Given the description of an element on the screen output the (x, y) to click on. 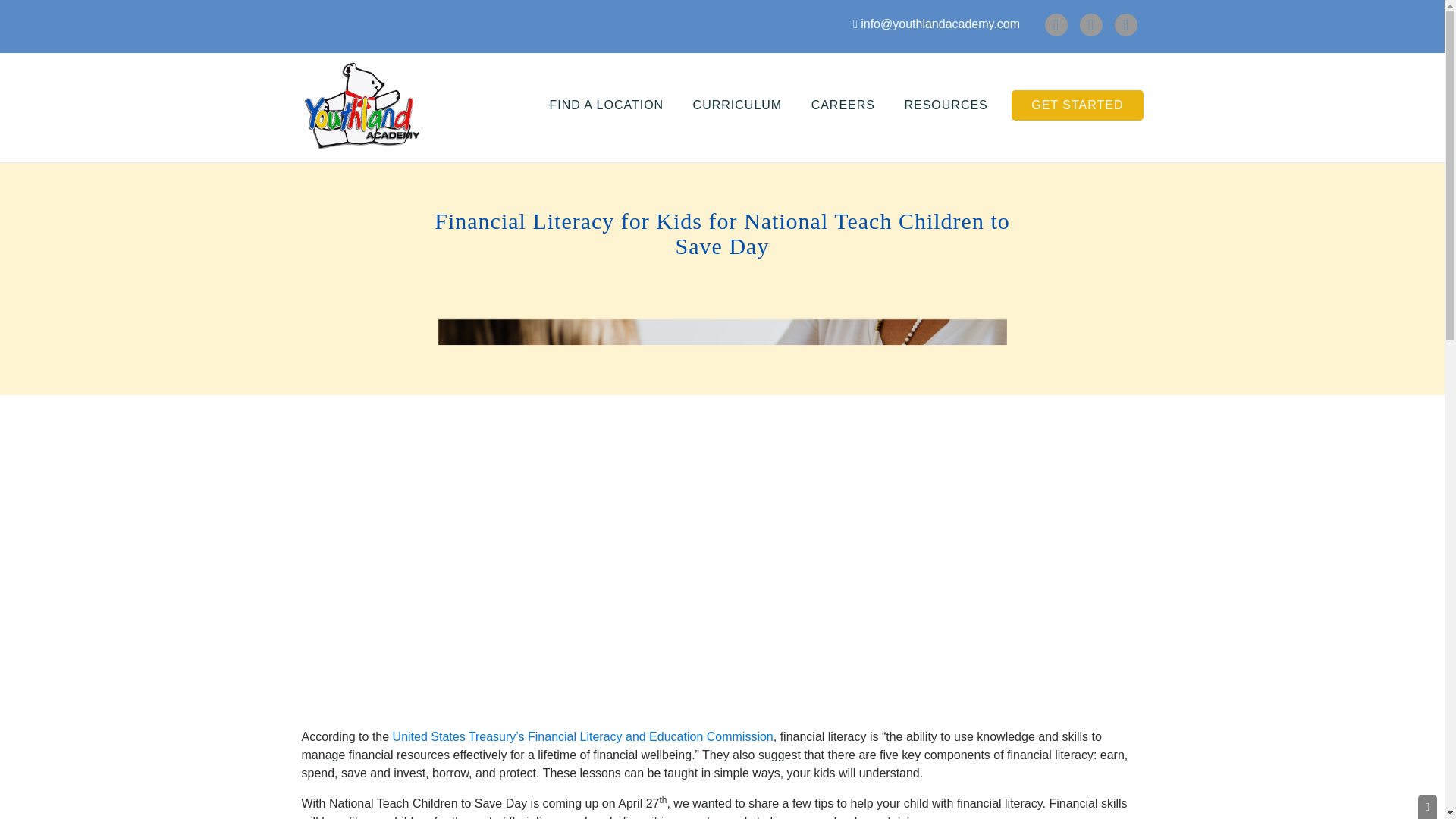
FIND A LOCATION (606, 105)
pinterest (1126, 24)
RESOURCES (945, 105)
CAREERS (842, 105)
facebook (1056, 24)
twitter (1091, 24)
GET STARTED (1076, 105)
CURRICULUM (736, 105)
